Given the description of an element on the screen output the (x, y) to click on. 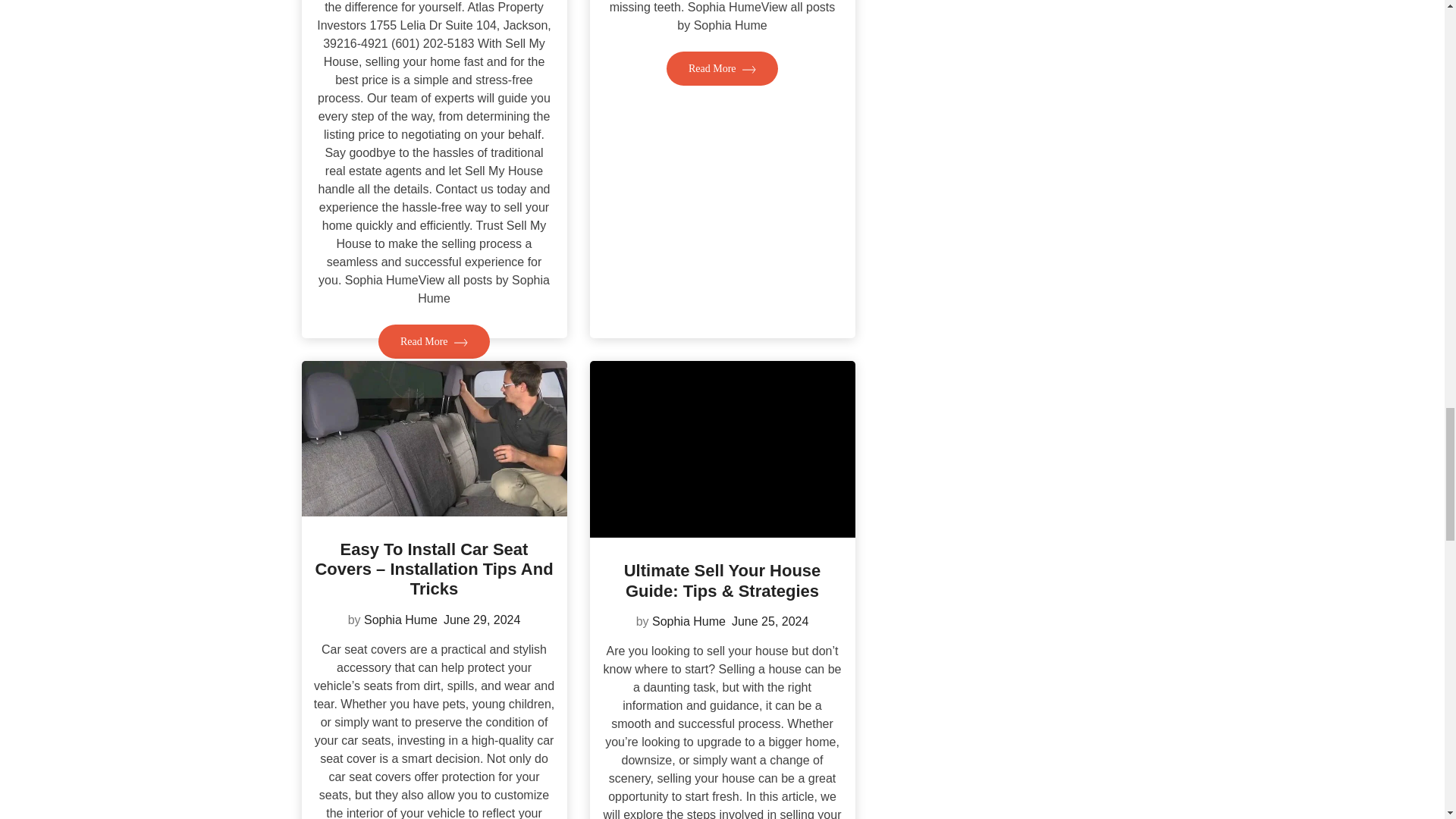
Sophia Hume (688, 621)
June 25, 2024 (770, 621)
Read More (433, 341)
Read More (721, 68)
June 29, 2024 (481, 619)
Sophia Hume (401, 619)
